Given the description of an element on the screen output the (x, y) to click on. 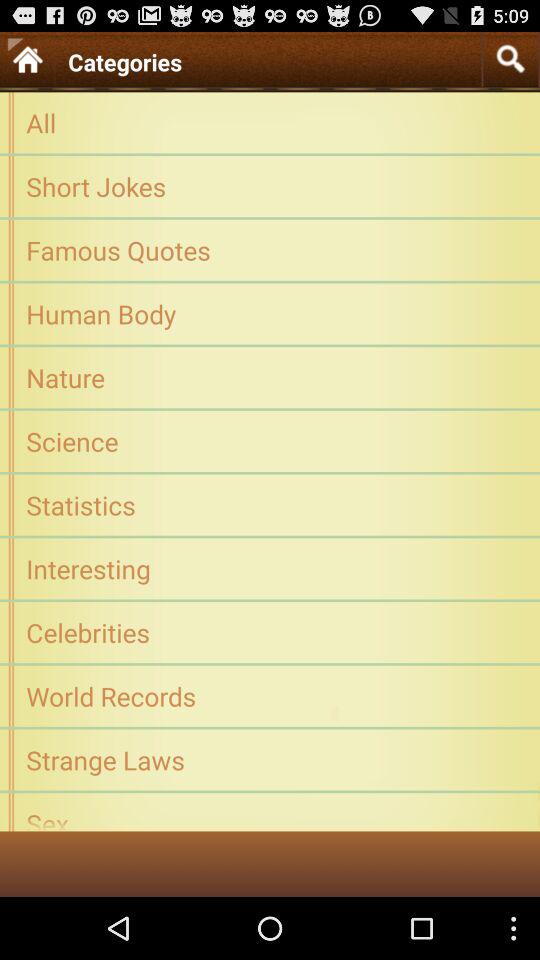
turn on short jokes icon (270, 185)
